Given the description of an element on the screen output the (x, y) to click on. 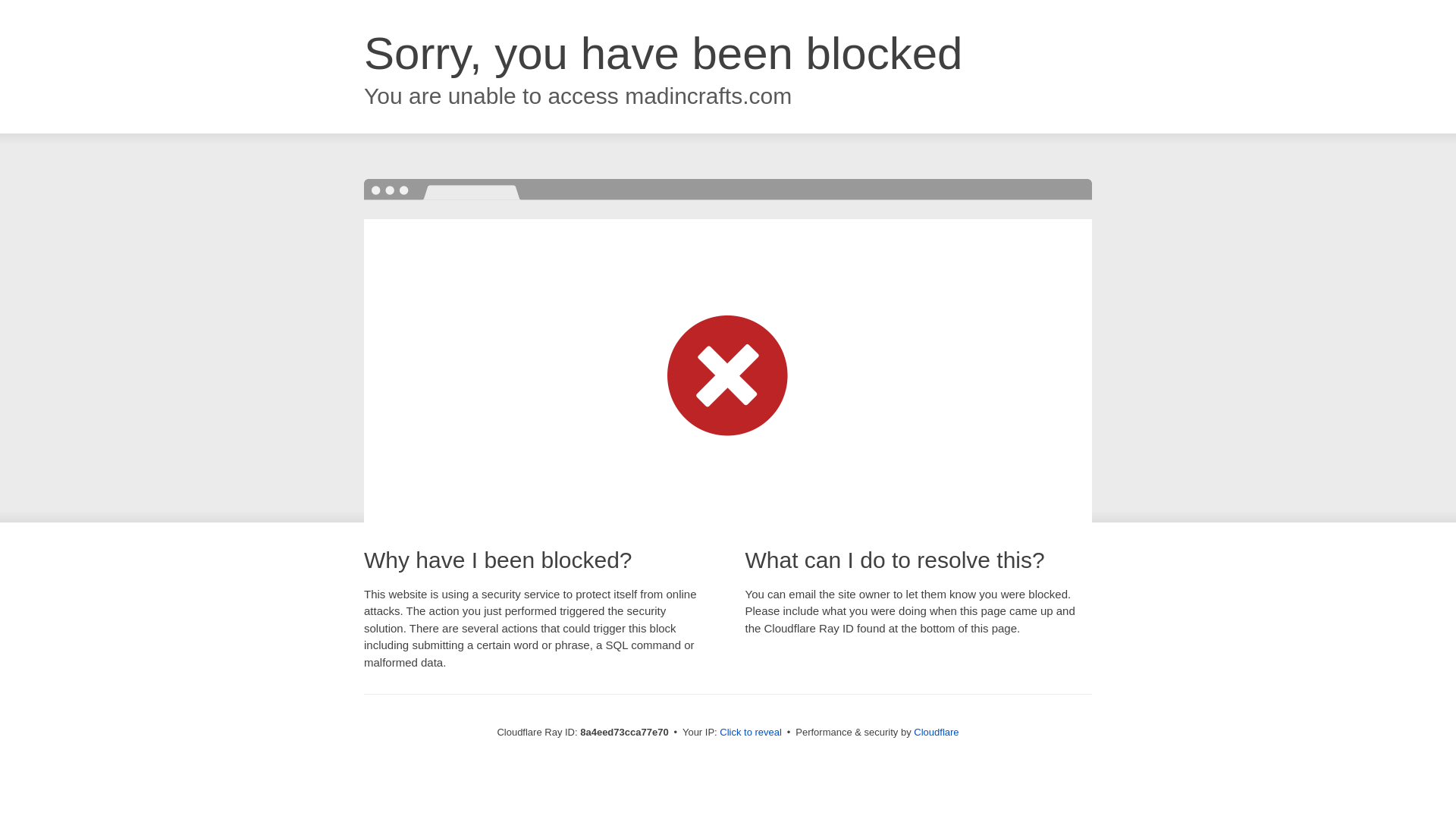
Click to reveal (750, 732)
Cloudflare (936, 731)
